Given the description of an element on the screen output the (x, y) to click on. 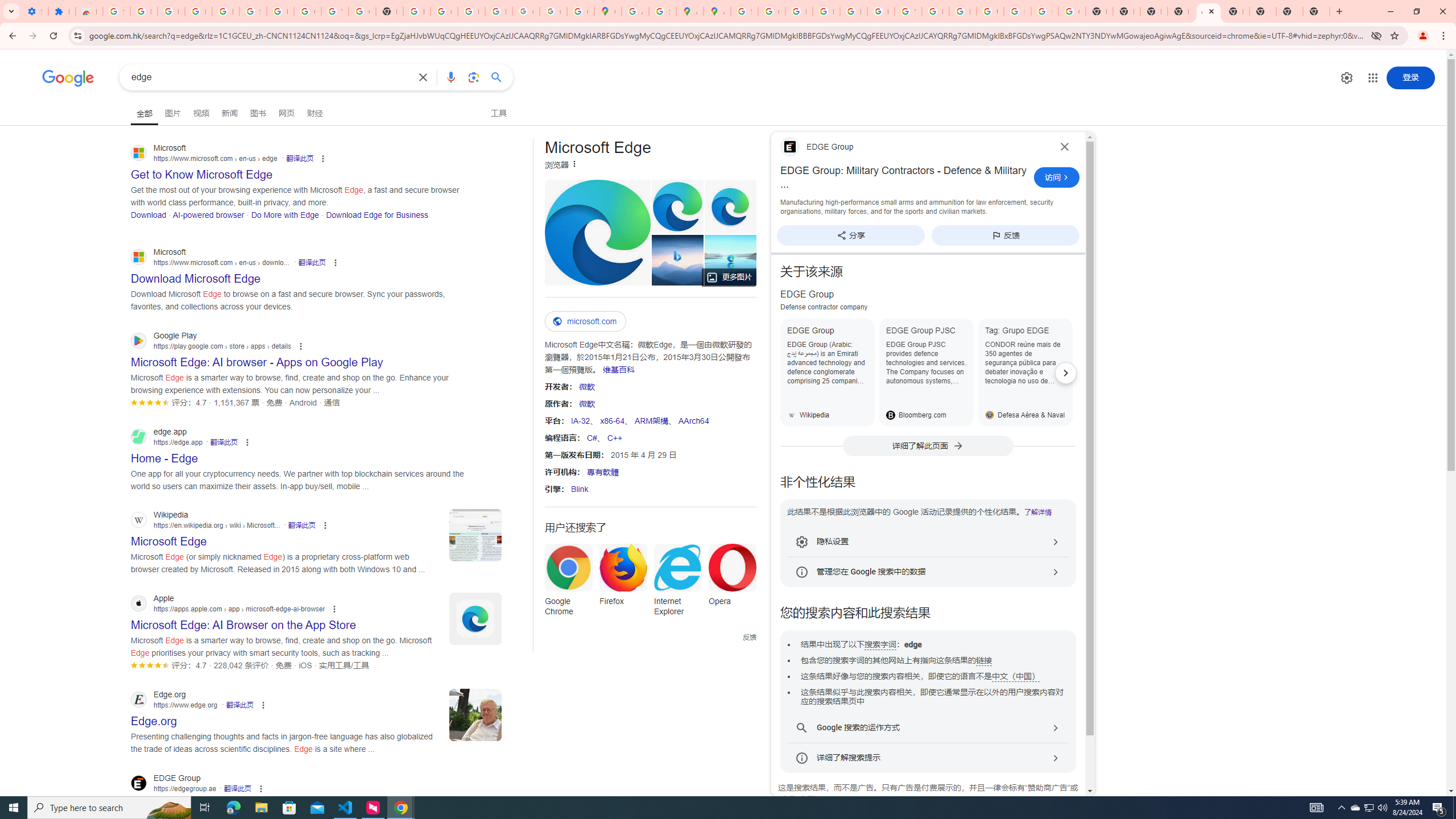
Privacy Help Center - Policies Help (799, 11)
EDGE Group: Military Contractors - Defence & Military ... (903, 176)
